Given the description of an element on the screen output the (x, y) to click on. 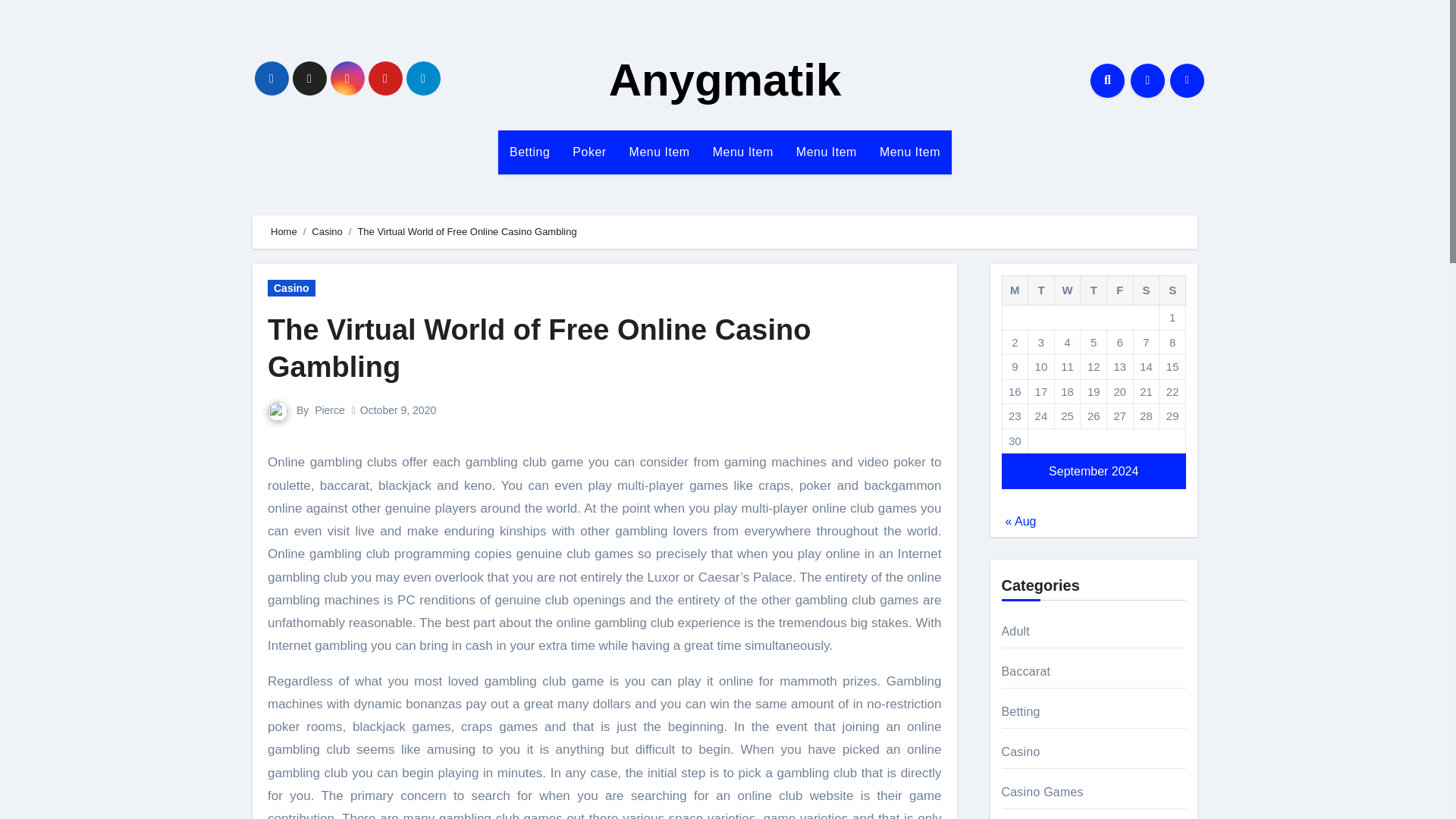
Menu Item (742, 152)
Anygmatik (724, 79)
Poker (588, 152)
Menu Item (825, 152)
Menu Item (659, 152)
The Virtual World of Free Online Casino Gambling (538, 348)
Casino (291, 288)
Menu Item (742, 152)
Menu Item (909, 152)
